Given the description of an element on the screen output the (x, y) to click on. 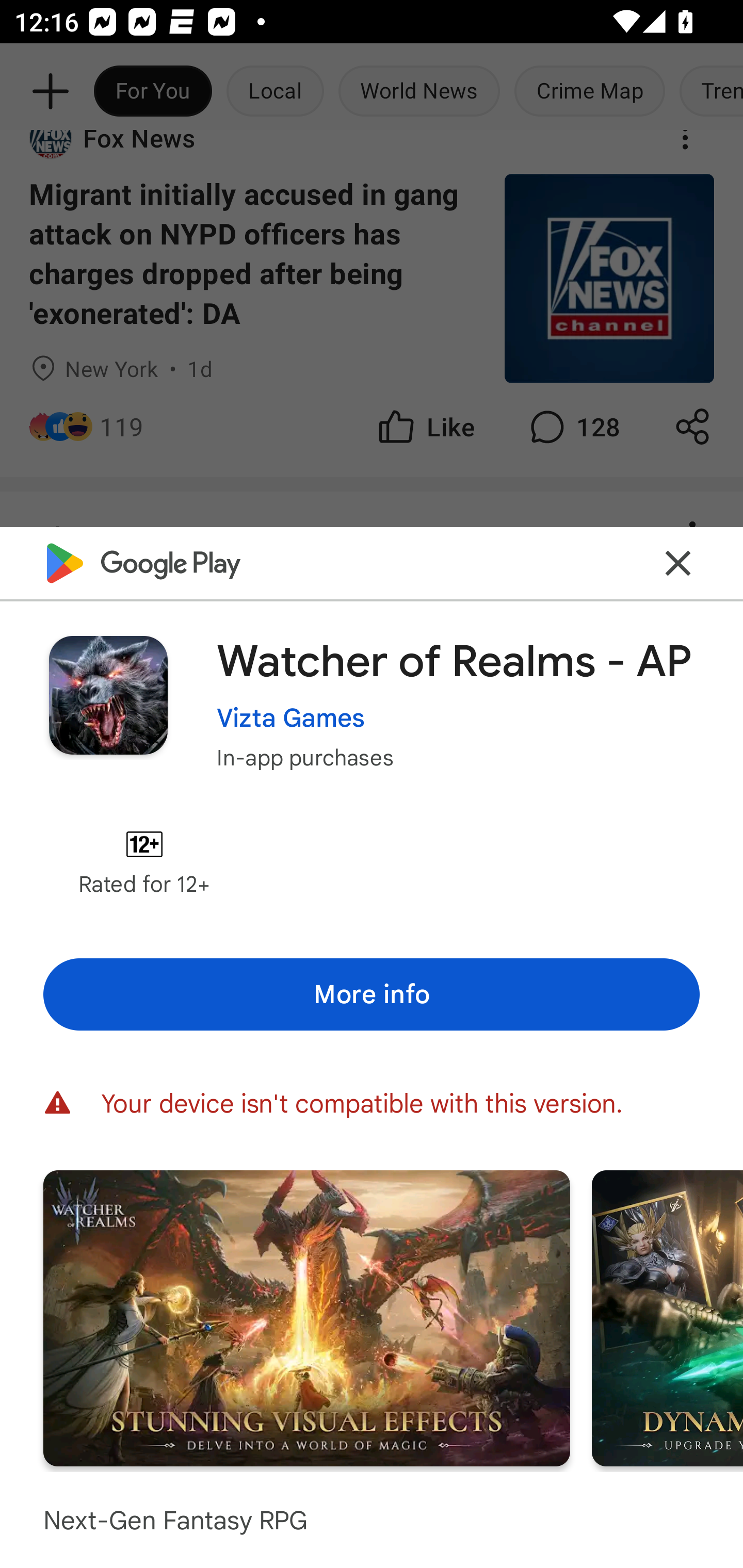
Close (677, 562)
Vizta Games (290, 716)
More info (371, 994)
Screenshot "1" of "7" (306, 1317)
Screenshot "2" of "7" (667, 1317)
